Given the description of an element on the screen output the (x, y) to click on. 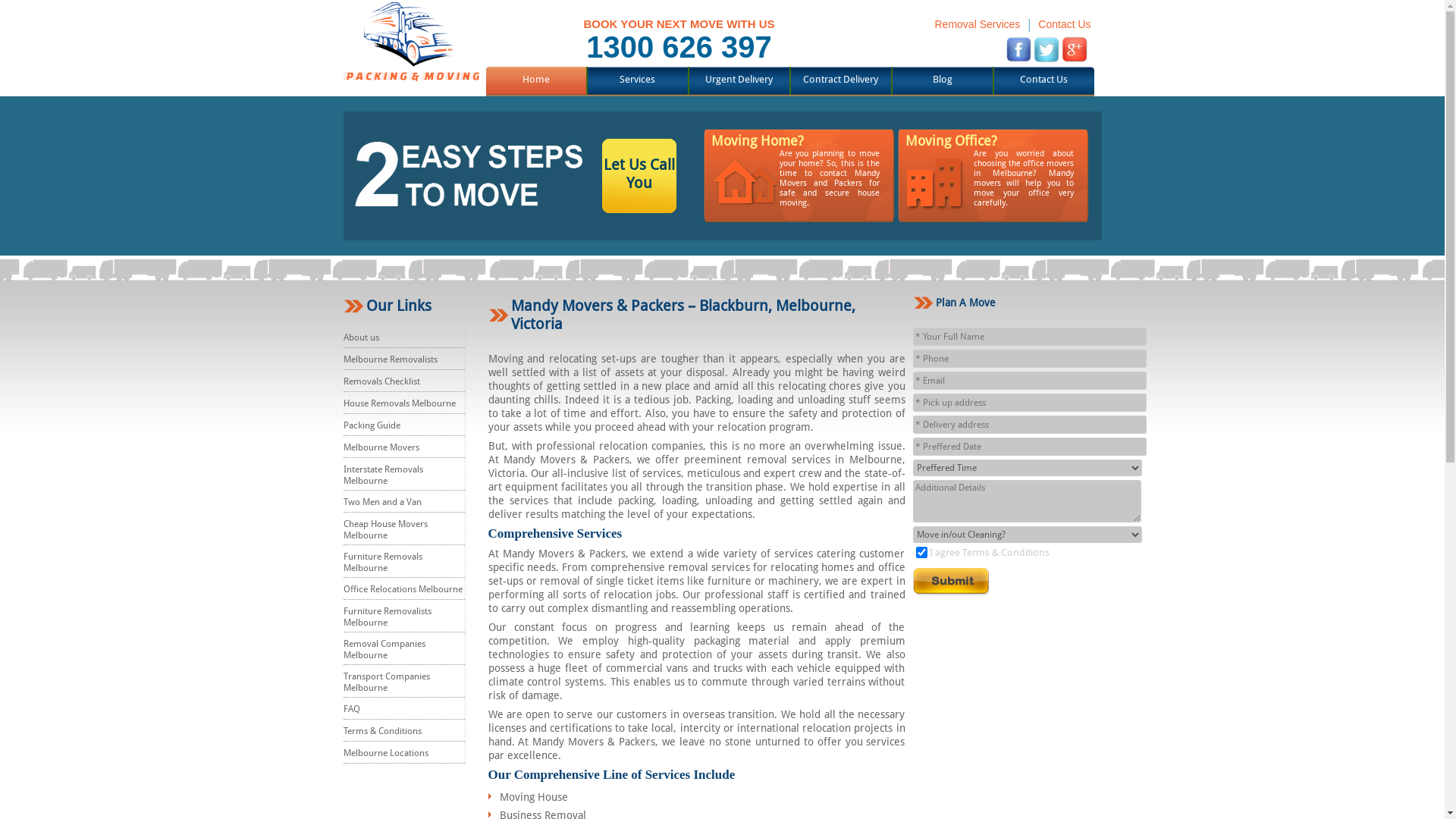
Removal Companies Melbourne Element type: text (383, 649)
Removals Checklist Element type: text (380, 381)
Melbourne Removalists Element type: text (389, 359)
About us Element type: text (360, 337)
Two Men and a Van Element type: text (381, 501)
Urgent Delivery Element type: text (738, 78)
I agree Terms & Conditions Element type: text (989, 552)
Terms & Conditions Element type: text (381, 730)
Melbourne Movers Element type: text (380, 447)
Cheap House Movers Melbourne Element type: text (384, 529)
Contract Delivery Element type: text (840, 78)
FAQ Element type: text (350, 708)
Melbourne Locations Element type: text (384, 752)
Transport Companies Melbourne Element type: text (385, 682)
Interstate Removals Melbourne Element type: text (382, 475)
Removal Services Element type: text (976, 24)
Contact Us Element type: text (1064, 24)
Blog Element type: text (942, 78)
Let Us Call You Element type: text (638, 193)
Office Relocations Melbourne Element type: text (401, 588)
Packing Guide Element type: text (370, 425)
House Removals Melbourne Element type: text (398, 403)
Furniture Removals Melbourne Element type: text (381, 562)
Furniture Removalists Melbourne Element type: text (386, 616)
Home Element type: text (535, 78)
Contact Us Element type: text (1043, 78)
Services Element type: text (637, 78)
1300 626 397 Element type: text (678, 46)
